Given the description of an element on the screen output the (x, y) to click on. 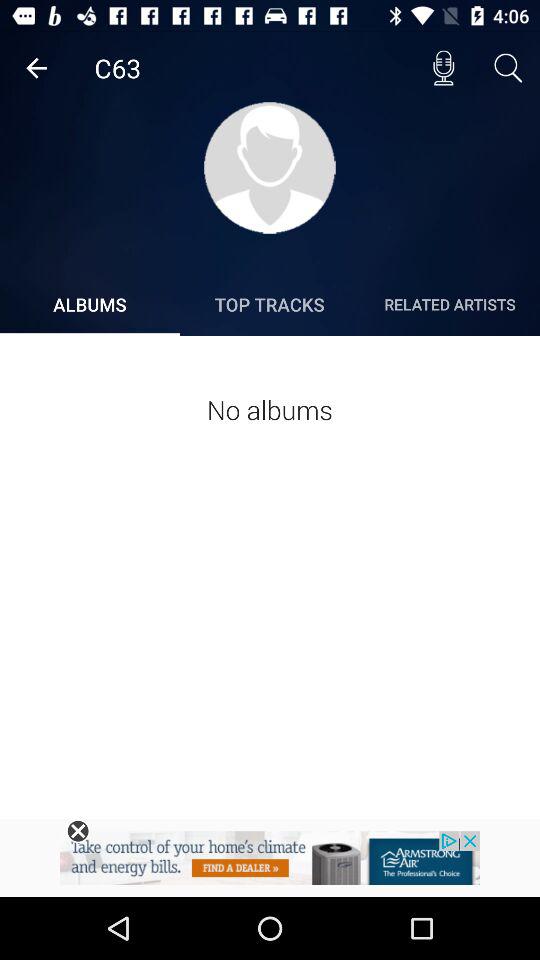
click on the x symbol which is left side bottom of the page (77, 830)
select the search icon (508, 68)
select the record icon (443, 68)
